Given the description of an element on the screen output the (x, y) to click on. 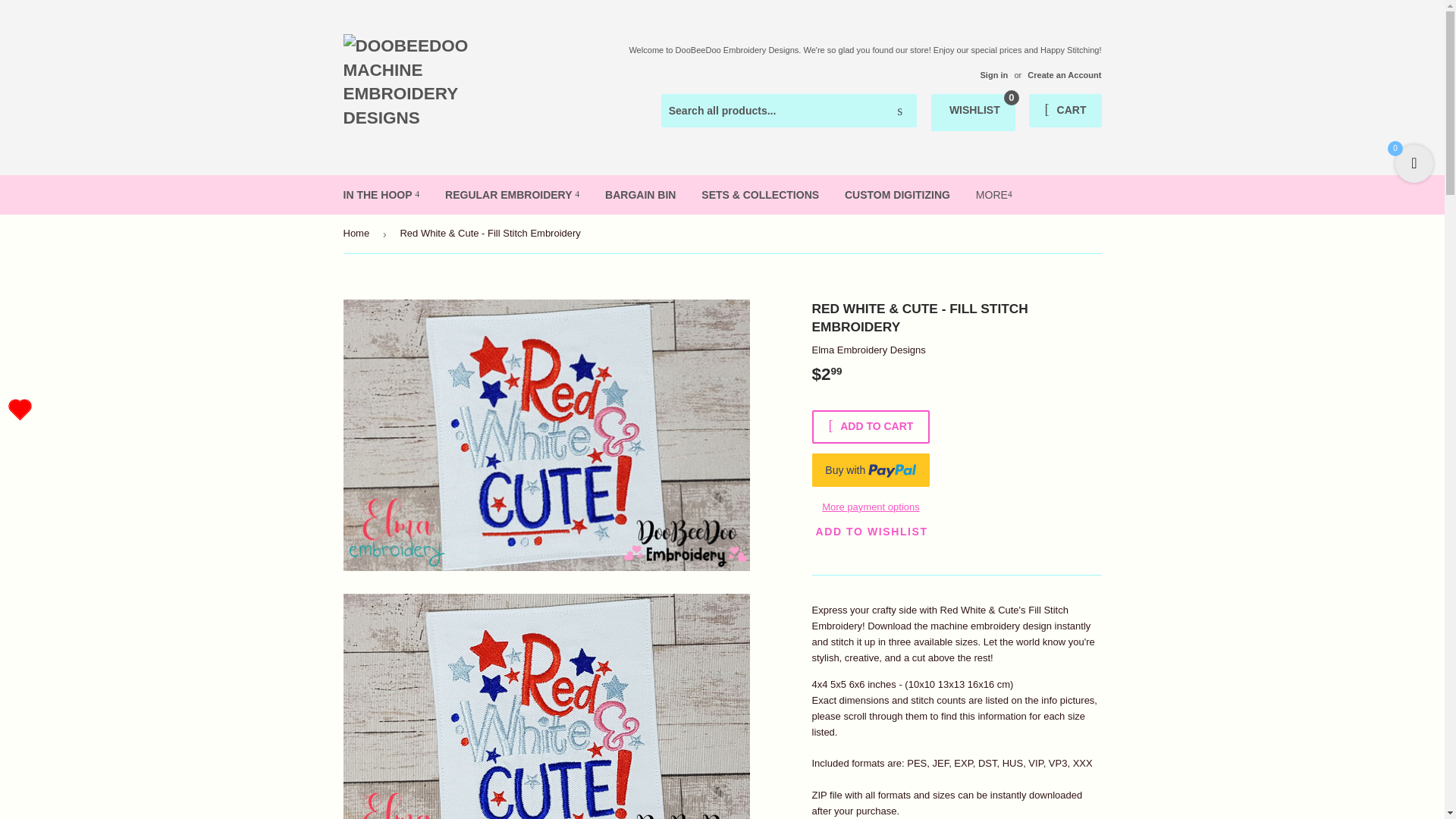
Sign in (972, 112)
Search (993, 74)
Wishlist (899, 111)
CART (19, 409)
Create an Account (1064, 110)
